Given the description of an element on the screen output the (x, y) to click on. 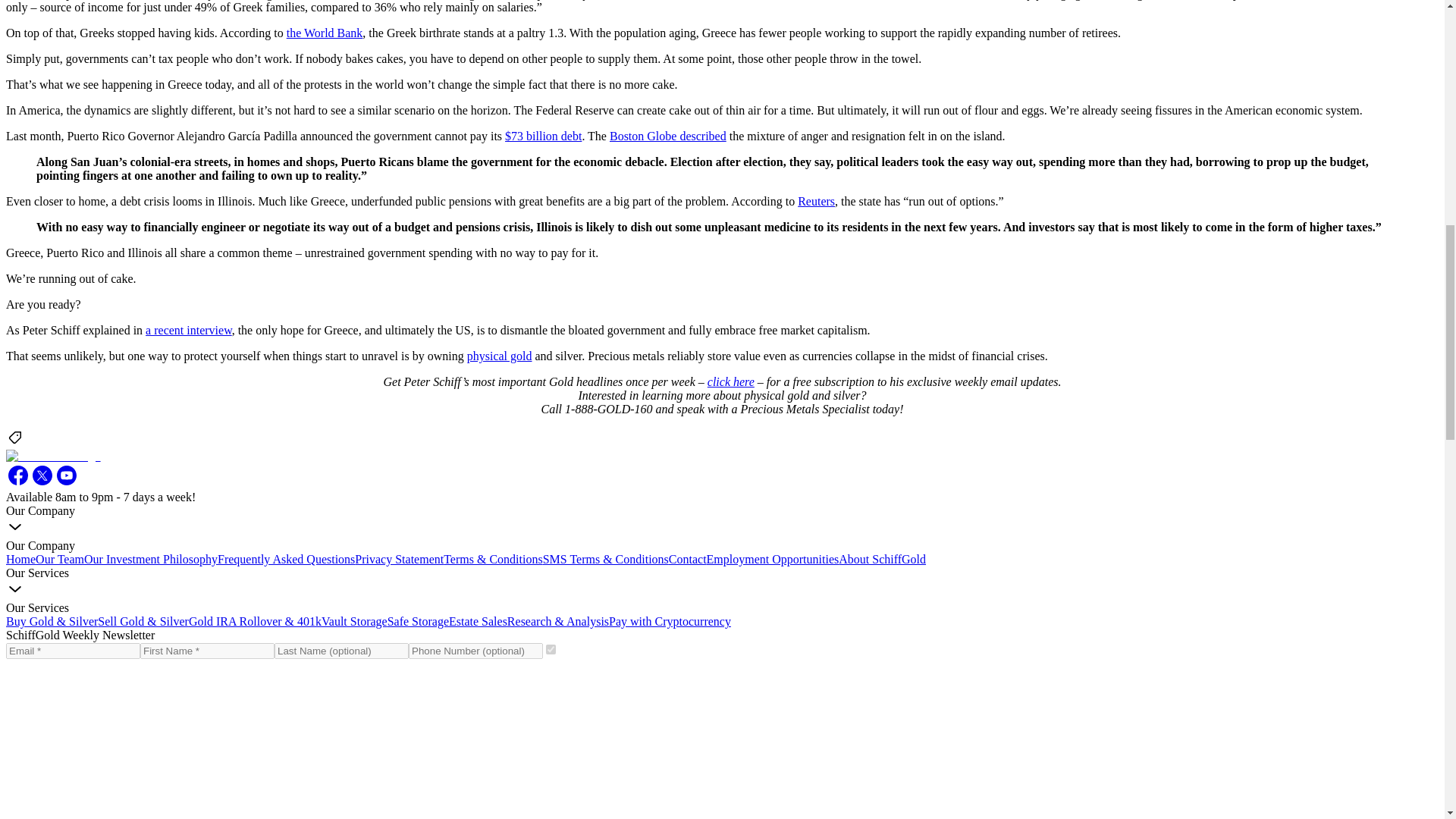
the World Bank (324, 32)
Boston Globe described (668, 135)
3807 (551, 649)
Reuters (815, 201)
physical gold (499, 355)
click here (730, 381)
a recent interview (188, 329)
